Given the description of an element on the screen output the (x, y) to click on. 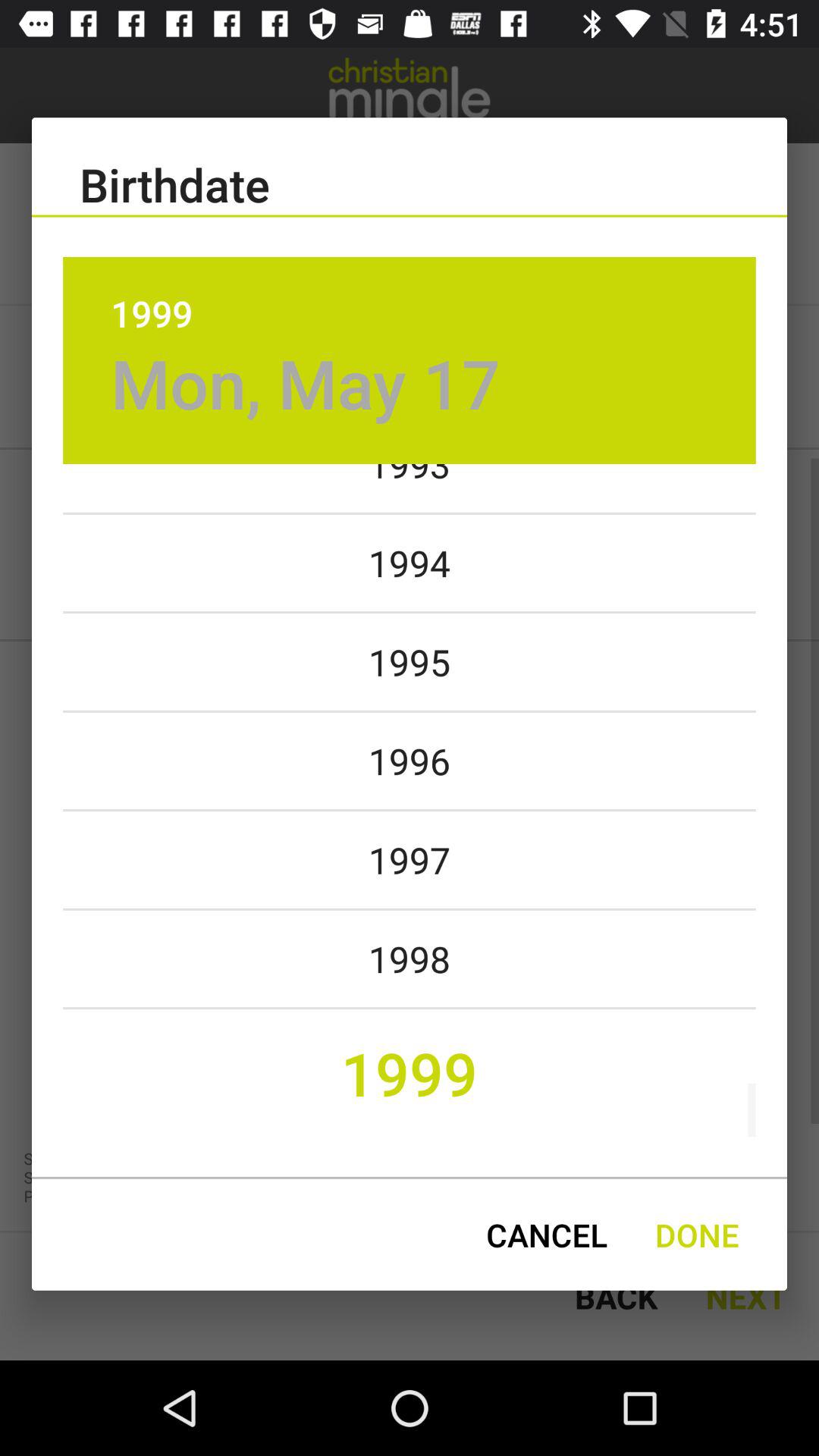
select the icon below the 1999 item (305, 382)
